Given the description of an element on the screen output the (x, y) to click on. 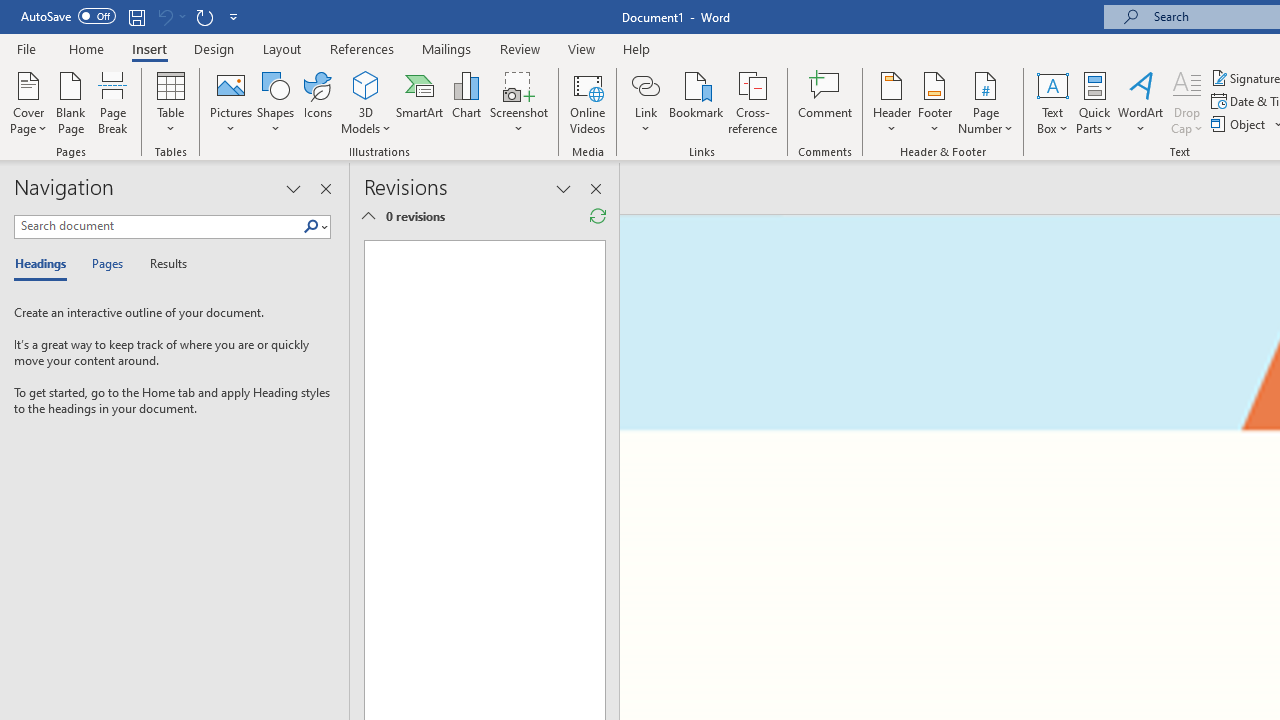
Online Videos... (588, 102)
3D Models (366, 102)
Screenshot (518, 102)
Link (645, 84)
Search document (157, 226)
Can't Undo (164, 15)
Comment (825, 102)
